Given the description of an element on the screen output the (x, y) to click on. 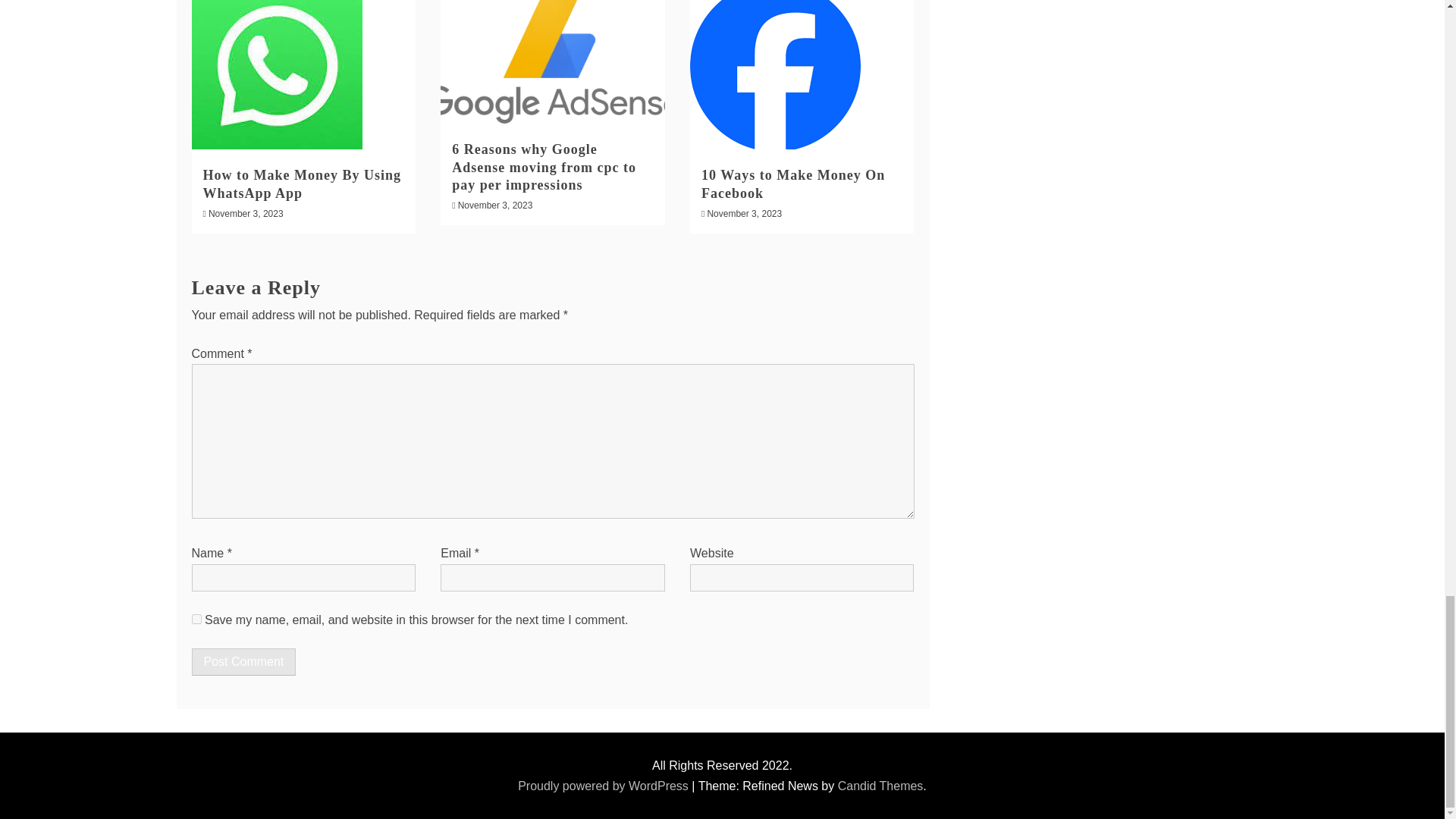
November 3, 2023 (743, 213)
How to Make Money By Using WhatsApp App (302, 183)
Post Comment (242, 661)
November 3, 2023 (495, 204)
Post Comment (242, 661)
10 Ways to Make Money On Facebook (793, 183)
November 3, 2023 (245, 213)
yes (195, 619)
